Given the description of an element on the screen output the (x, y) to click on. 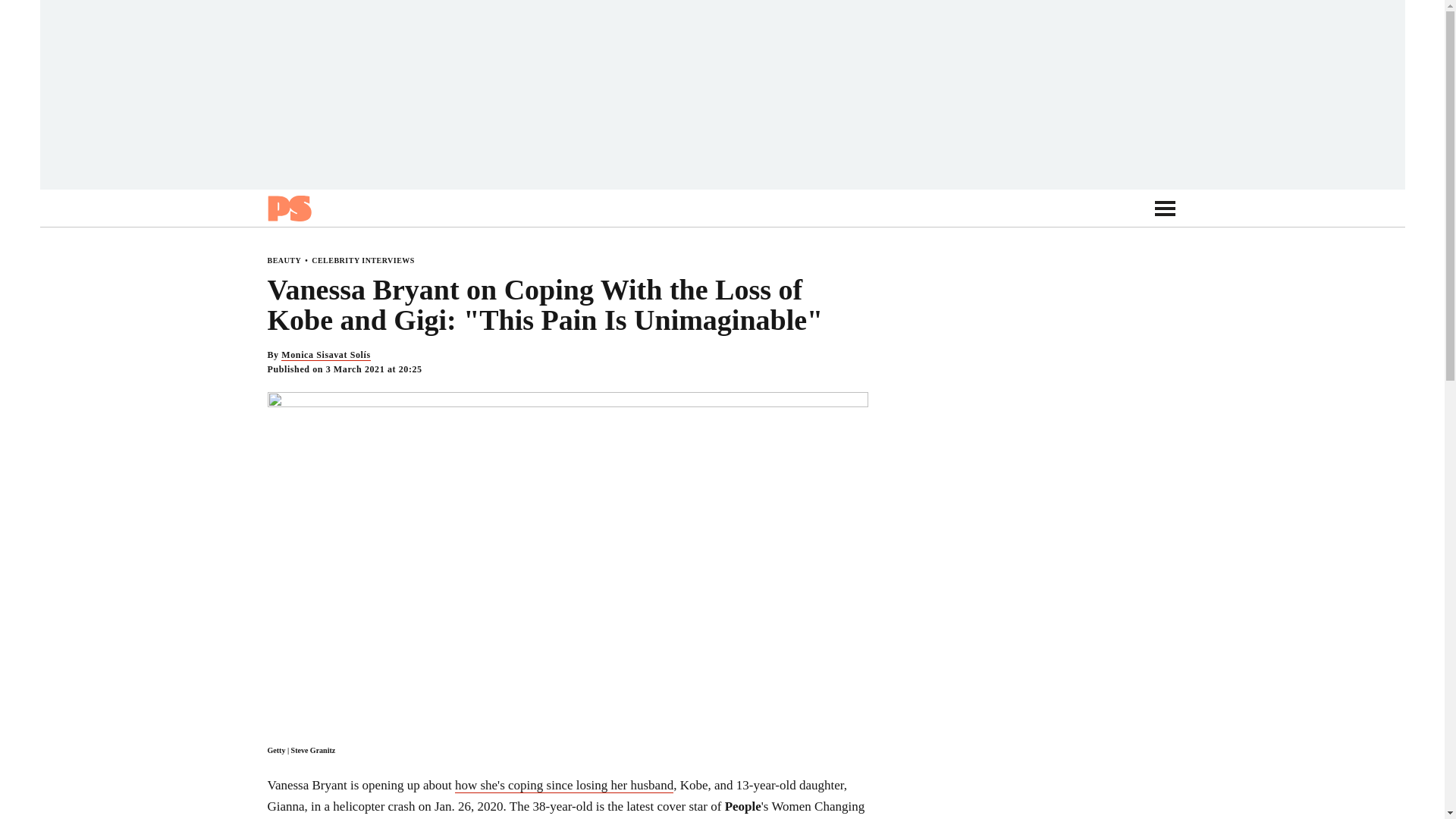
Go to Navigation (1164, 207)
how she's coping since losing her husband (563, 785)
CELEBRITY INTERVIEWS (362, 260)
BEAUTY (283, 260)
Go to Navigation (1164, 207)
Popsugar UK (288, 208)
